Given the description of an element on the screen output the (x, y) to click on. 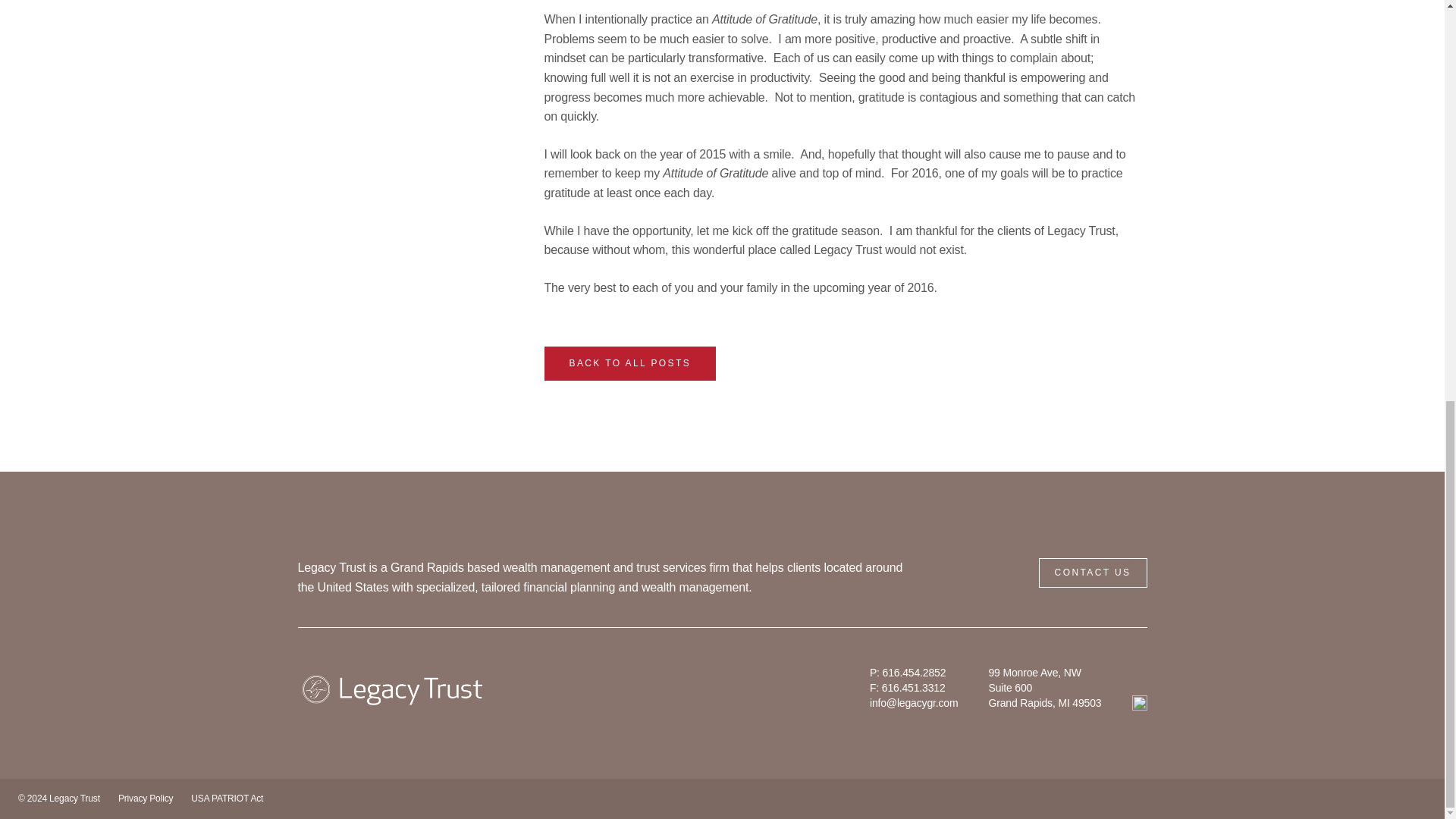
Privacy Policy (145, 798)
616.454.2852 (914, 672)
BACK TO ALL POSTS (630, 363)
CONTACT US (1093, 572)
USA PATRIOT Act (226, 798)
